Given the description of an element on the screen output the (x, y) to click on. 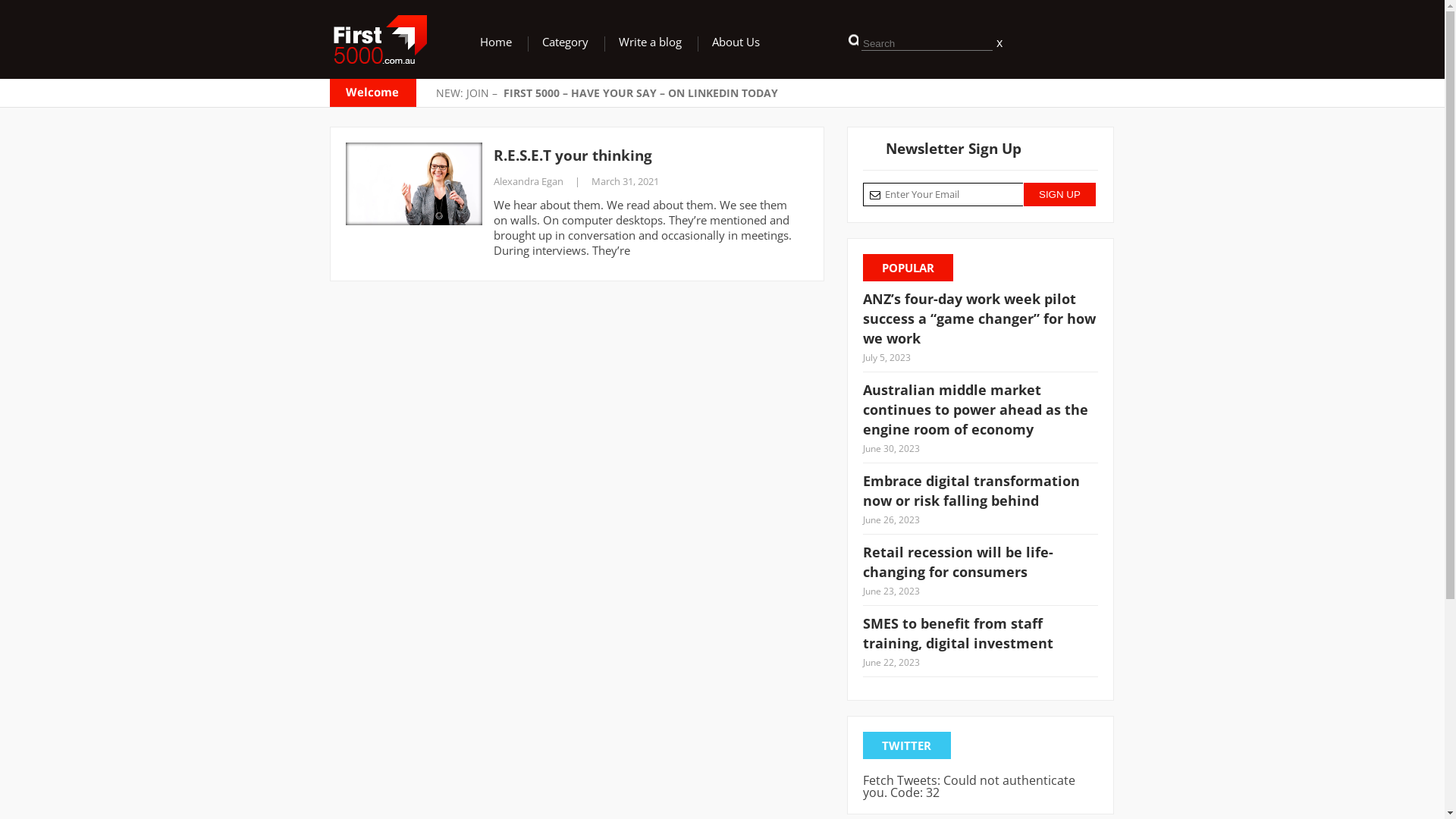
Write a blog Element type: text (649, 41)
x Element type: text (997, 42)
SIGN UP Element type: text (1059, 194)
About Us Element type: text (735, 41)
Home Element type: text (495, 41)
SMES to benefit from staff training, digital investment Element type: text (980, 634)
R.E.S.E.T your thinking Element type: hover (413, 183)
Category Element type: text (565, 41)
Embrace digital transformation now or risk falling behind Element type: text (980, 492)
R.E.S.E.T your thinking Element type: text (645, 155)
Retail recession will be life-changing for consumers Element type: text (980, 563)
